Given the description of an element on the screen output the (x, y) to click on. 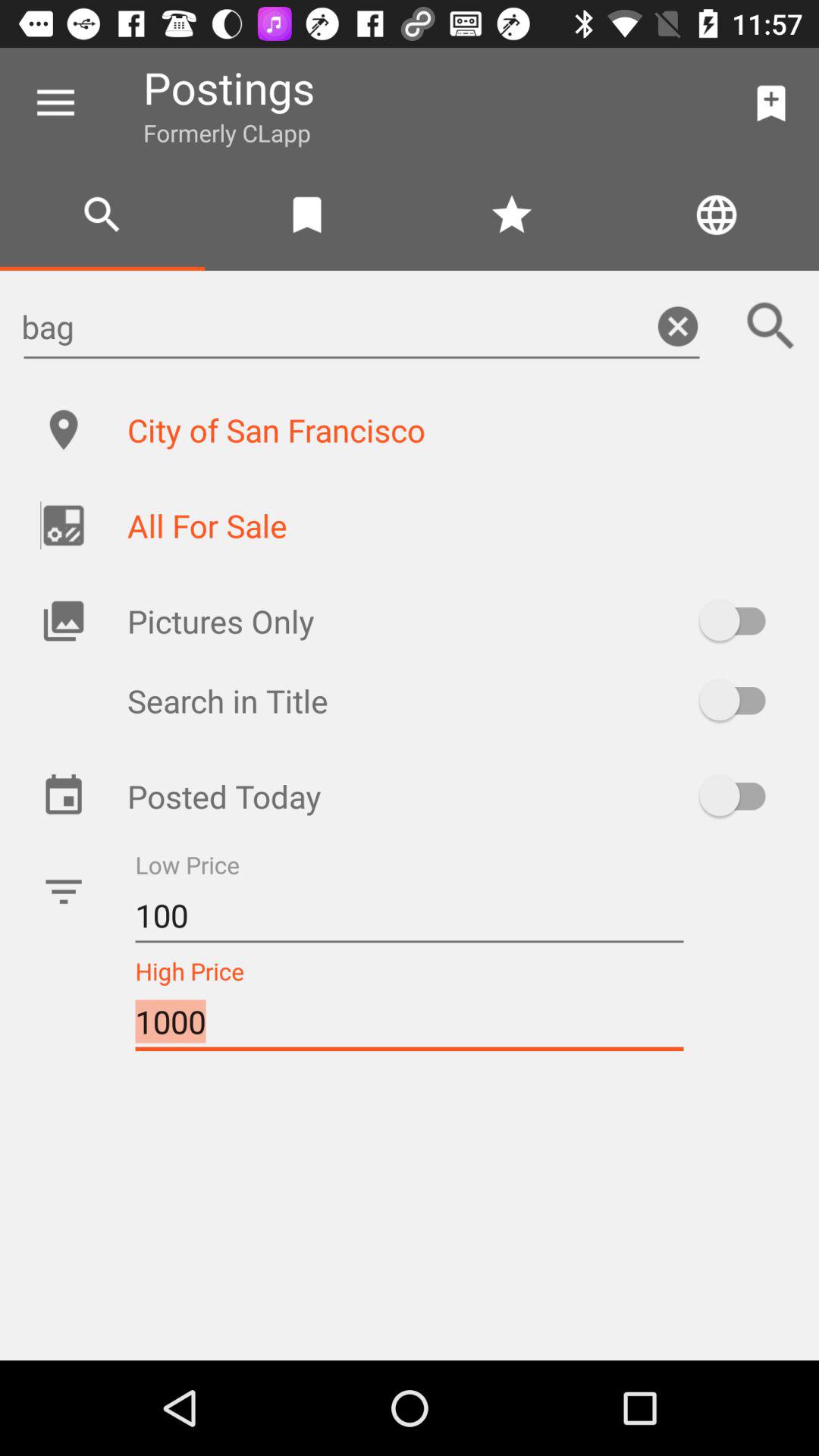
tap the 1000 (409, 1021)
